Given the description of an element on the screen output the (x, y) to click on. 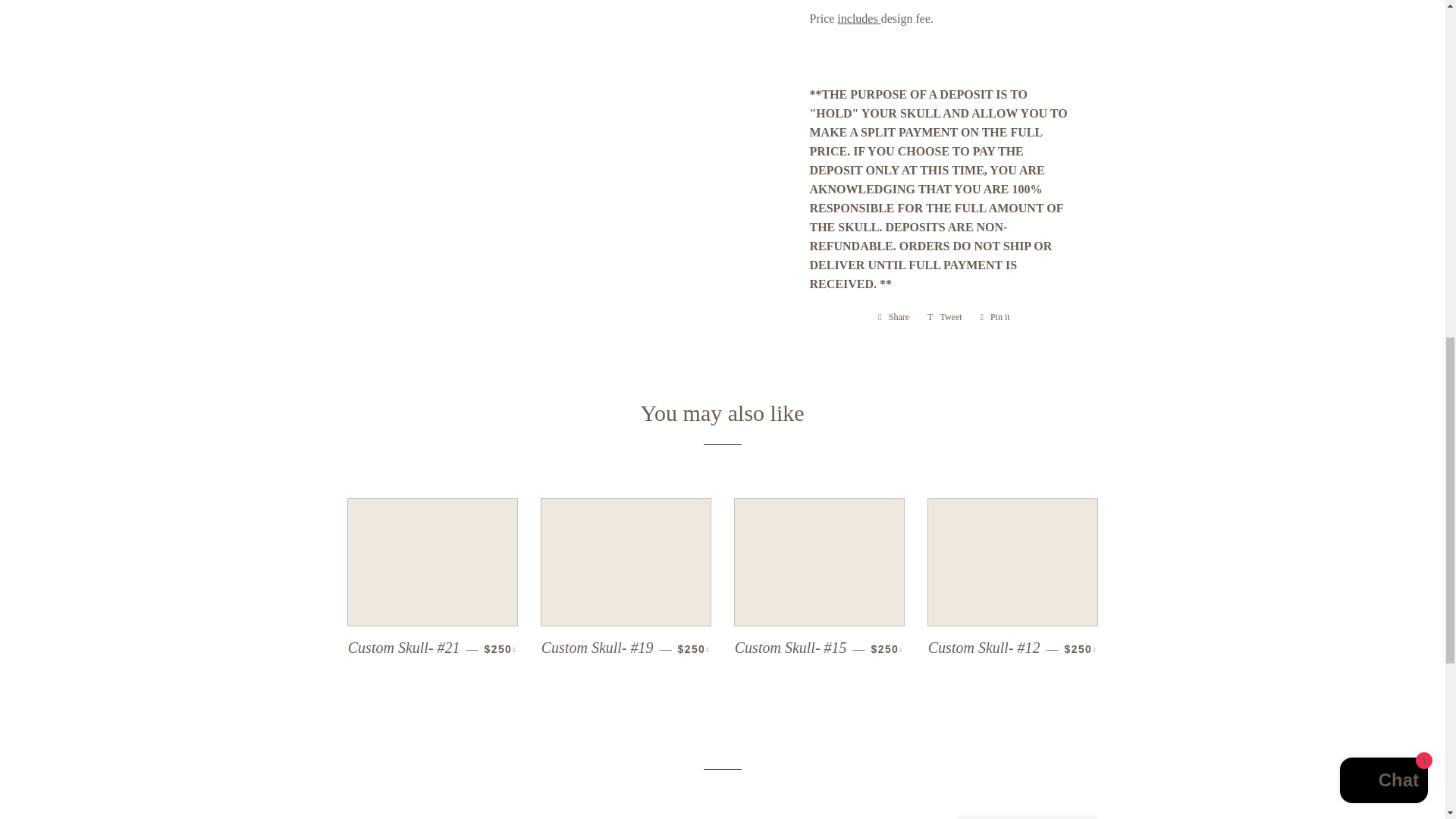
Pin on Pinterest (994, 316)
Tweet on Twitter (944, 316)
Wyld 'n Pretty on Facebook (633, 818)
Share on Facebook (893, 316)
